Given the description of an element on the screen output the (x, y) to click on. 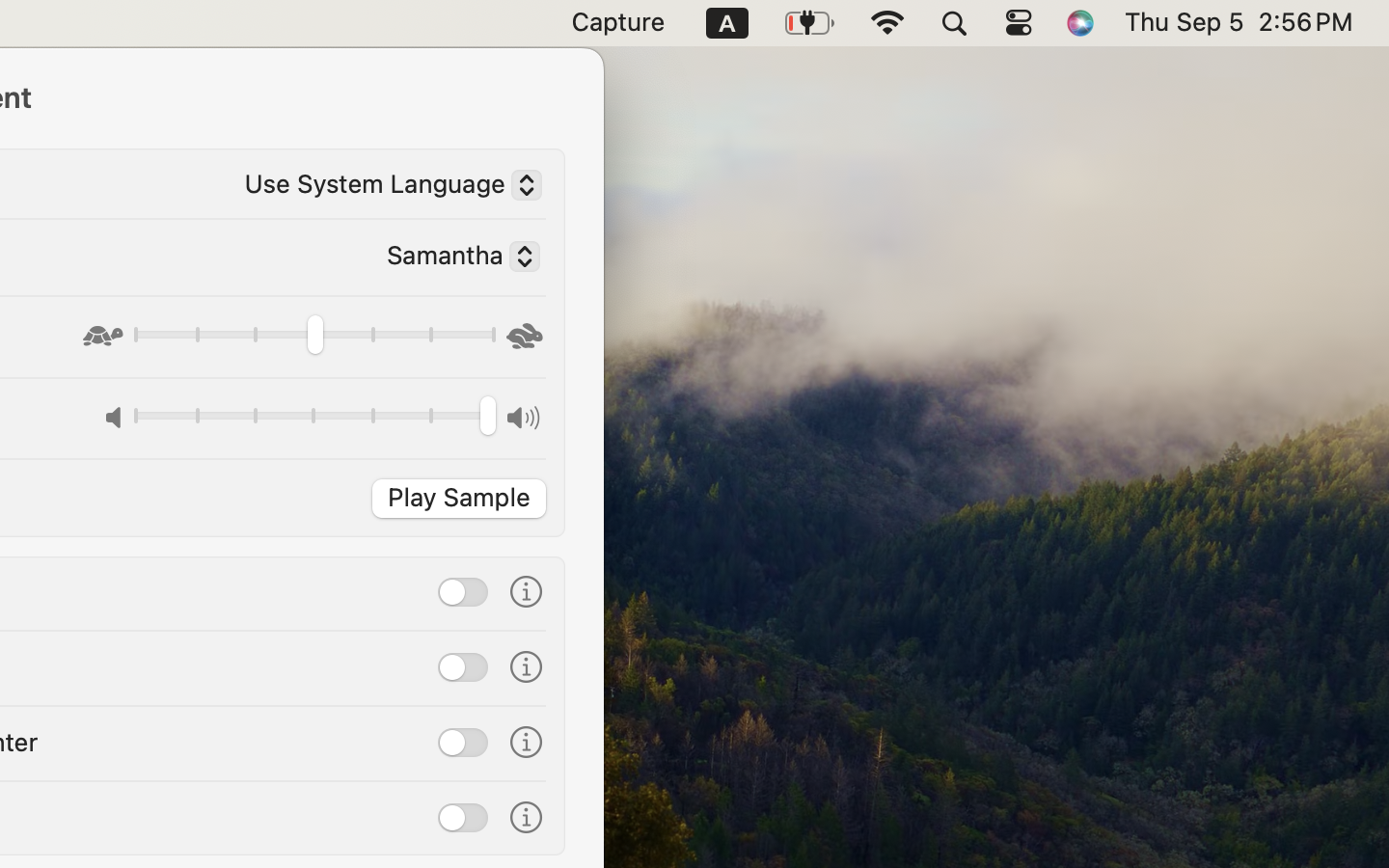
0.4166666567325592 Element type: AXSlider (313, 337)
